Given the description of an element on the screen output the (x, y) to click on. 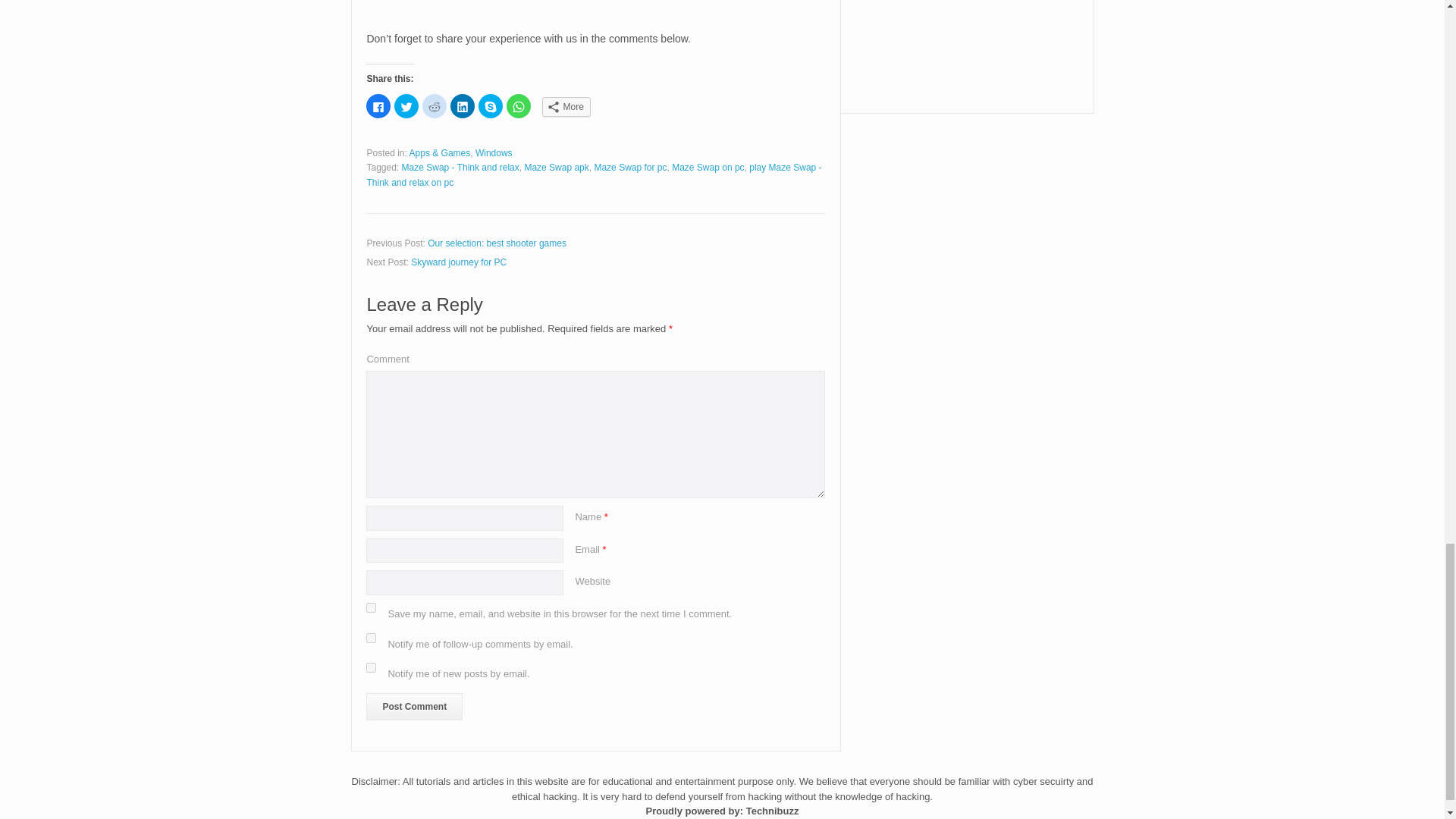
Click to share on Skype (490, 105)
Skyward journey for PC (458, 262)
play Maze Swap - Think and relax on pc (593, 175)
Click to share on WhatsApp (518, 105)
Click to share on Facebook (378, 105)
Click to share on Reddit (434, 105)
subscribe (370, 667)
Our selection: best shooter games (497, 243)
Maze Swap - Think and relax (460, 167)
Click to share on LinkedIn (461, 105)
Click to share on Twitter (406, 105)
Windows (494, 153)
Post Comment (414, 706)
More (565, 107)
Maze Swap apk (556, 167)
